Given the description of an element on the screen output the (x, y) to click on. 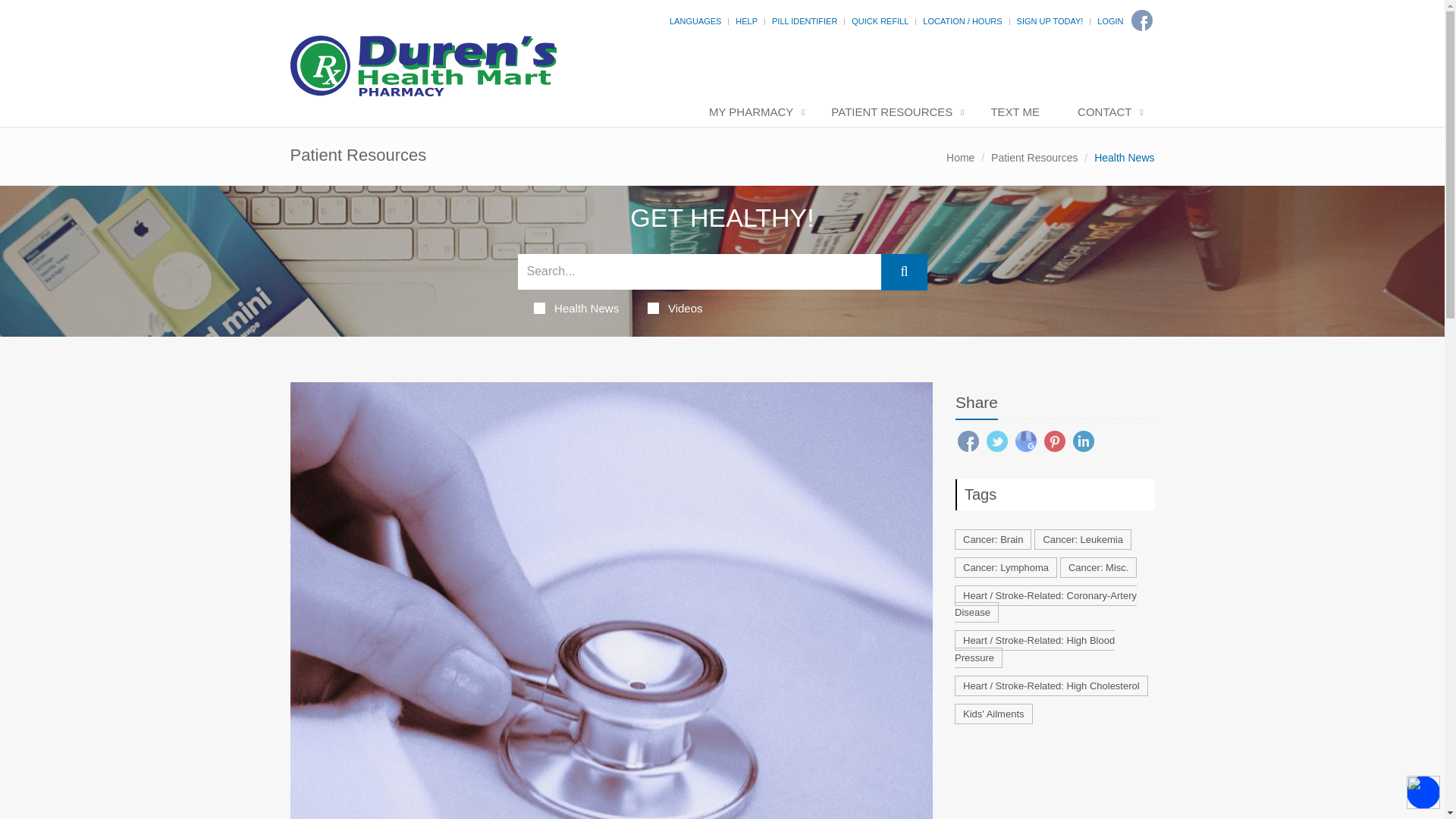
LOGIN (1109, 20)
Home (960, 157)
Accessibility Menu (1422, 792)
PATIENT RESOURCES (895, 112)
SIGN UP TODAY! (1049, 20)
MY PHARMACY (754, 112)
HELP (746, 20)
LANGUAGES (694, 20)
Patient Resources (1034, 157)
QUICK REFILL (879, 20)
PILL IDENTIFIER (804, 20)
CONTACT (1108, 112)
TEXT ME (1018, 112)
